Given the description of an element on the screen output the (x, y) to click on. 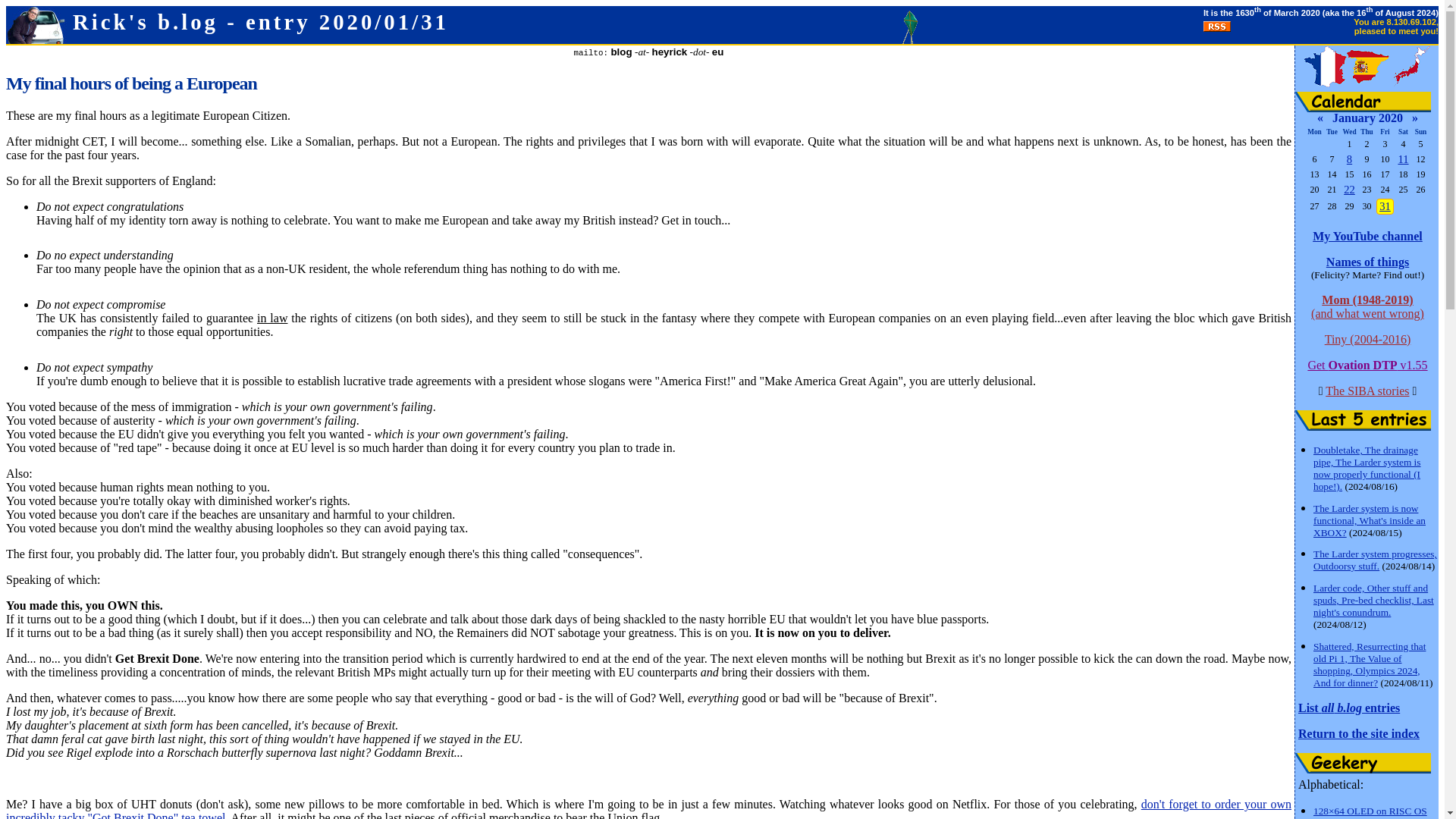
Last 5 entries (1363, 420)
Names of things (1367, 261)
OLED module v0.07 (1370, 818)
Geekery (1363, 762)
31 (1384, 205)
Return to the site index (1358, 733)
Get Ovation DTP v1.55 (1366, 364)
January 2020 (1367, 117)
22 (1349, 189)
My final hours of being a European (1384, 205)
